Given the description of an element on the screen output the (x, y) to click on. 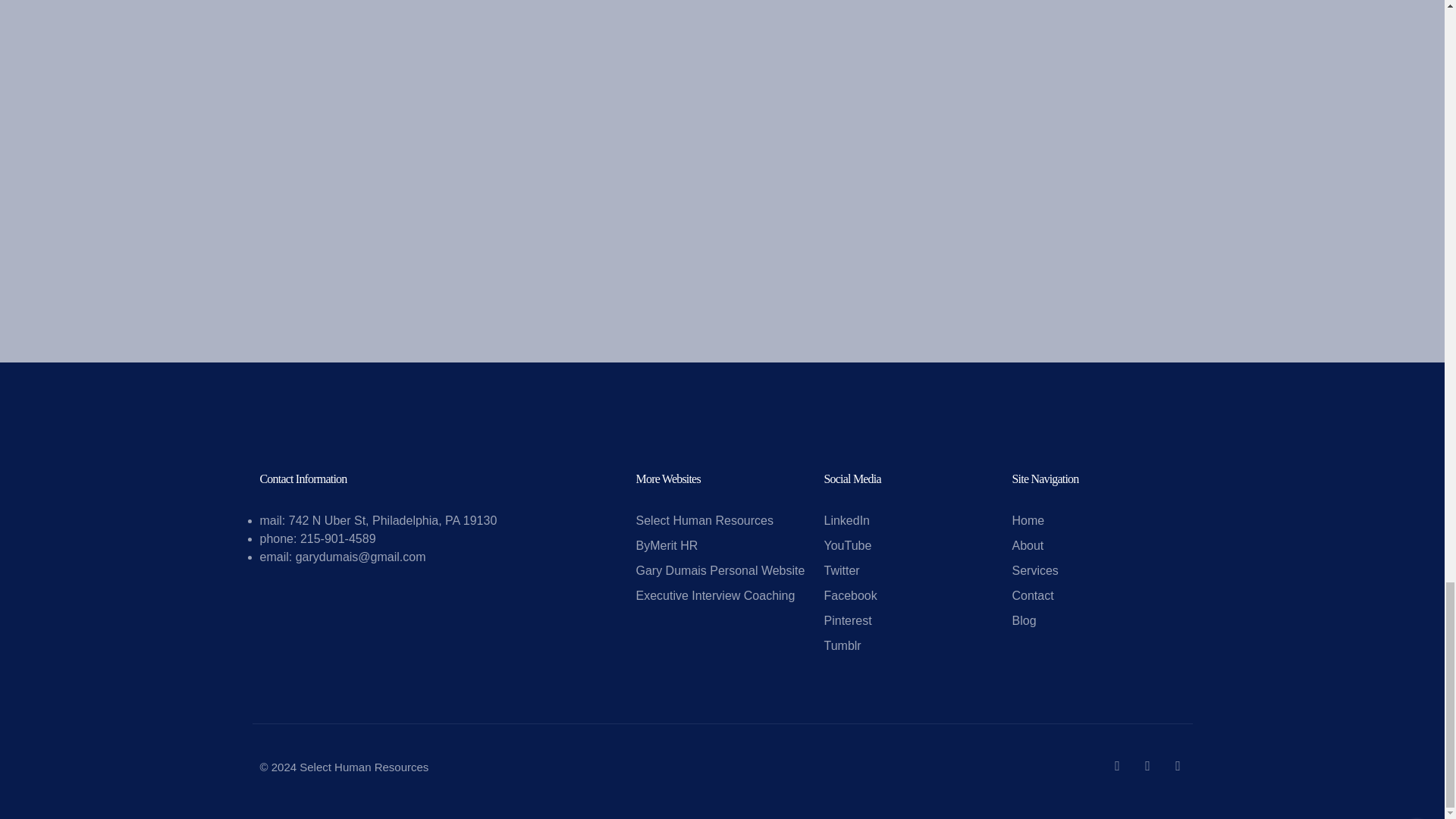
ByMerit HR (665, 546)
Select Human Resources (703, 520)
Executive Interview Coaching (714, 596)
Facebook (850, 596)
Pinterest (847, 620)
Gary Dumais Personal Website (719, 570)
YouTube (847, 546)
LinkedIn (846, 520)
Twitter (841, 570)
